Given the description of an element on the screen output the (x, y) to click on. 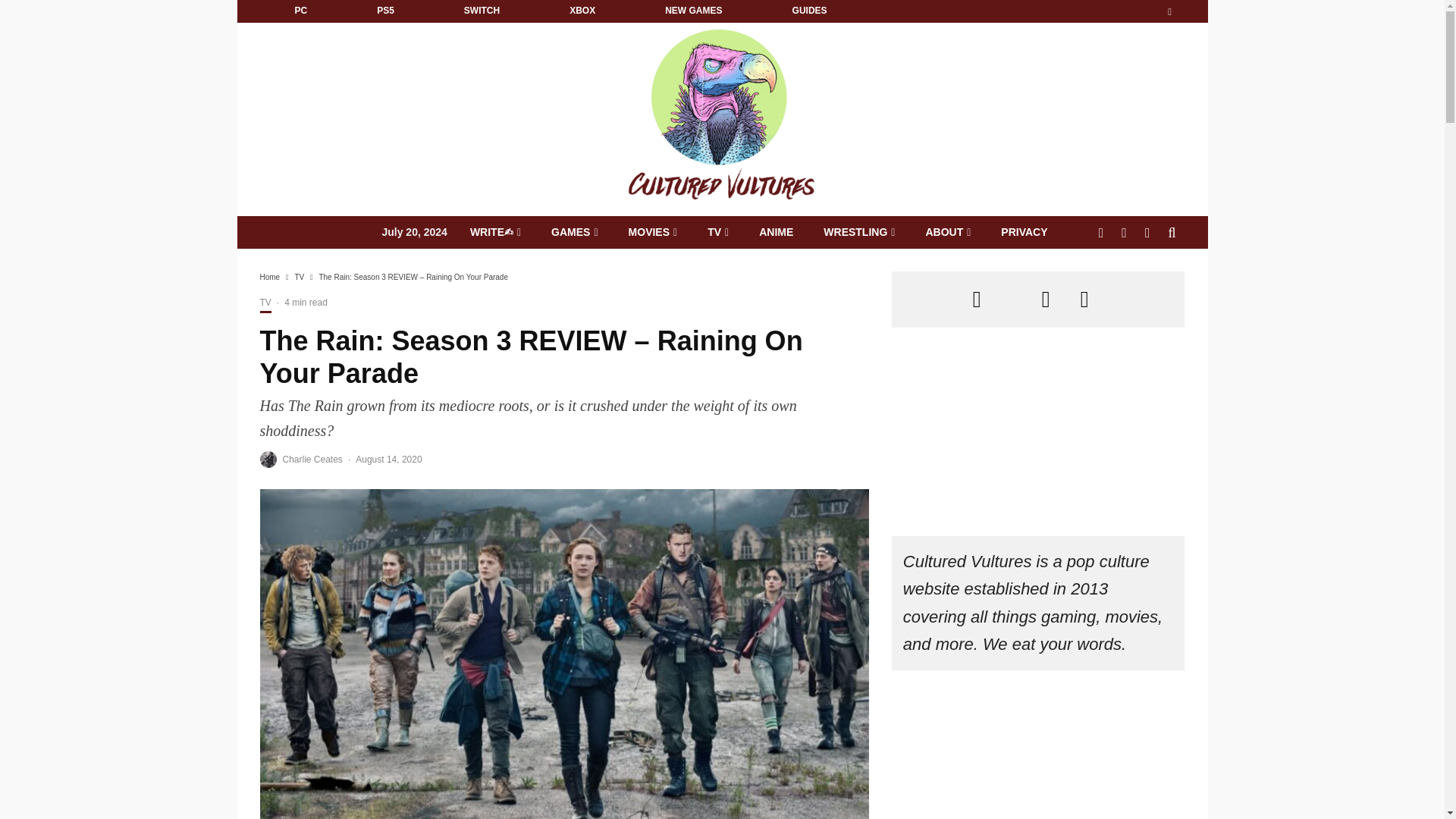
SWITCH (481, 11)
PS5 (385, 11)
GUIDES (809, 11)
New Games Coming Out (693, 11)
PC (300, 11)
XBOX (582, 11)
NEW GAMES (693, 11)
Switch News (481, 11)
GAMES (573, 232)
PS5 News (385, 11)
Video Game Guides (809, 11)
